Given the description of an element on the screen output the (x, y) to click on. 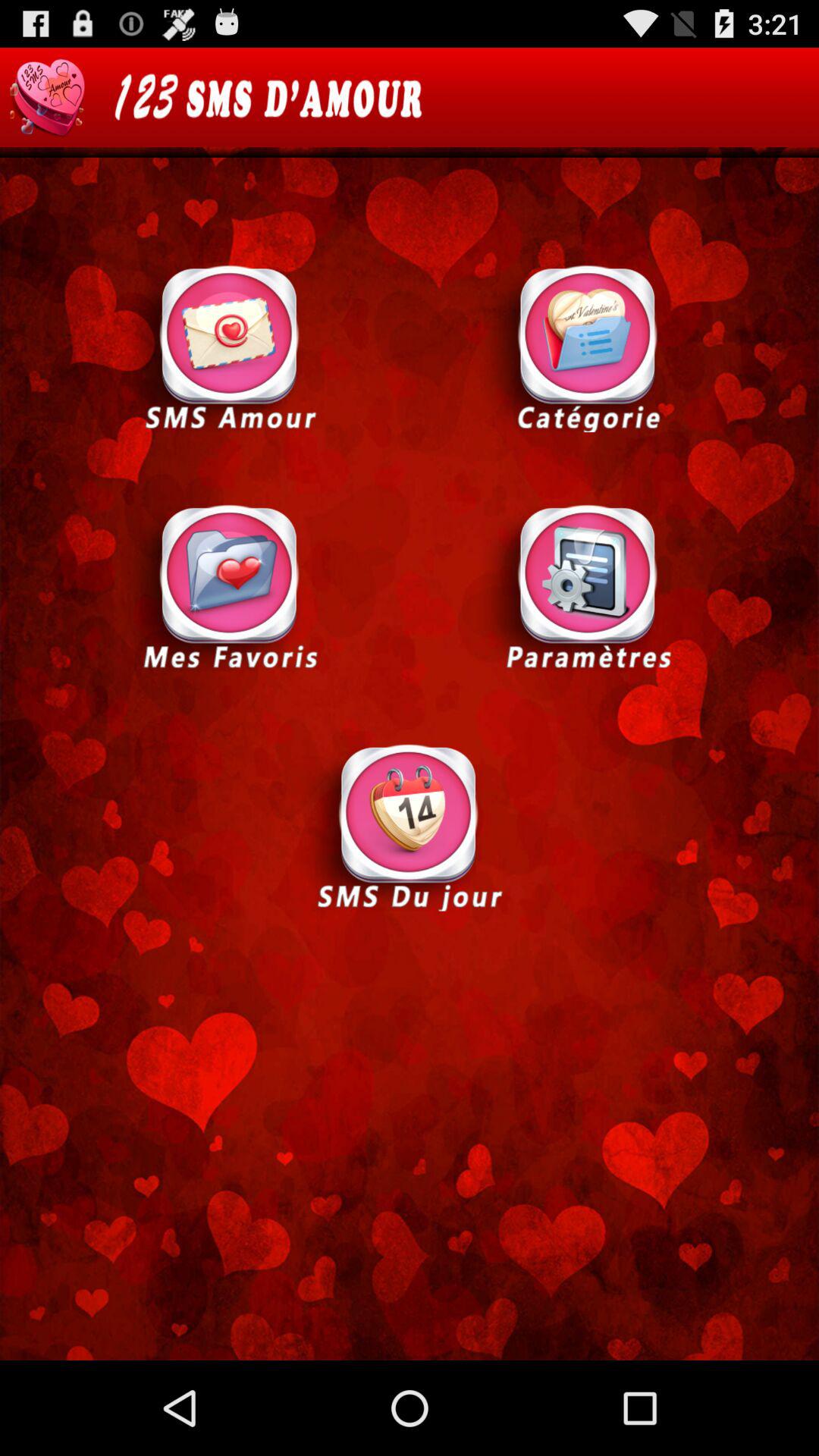
category (587, 347)
